Given the description of an element on the screen output the (x, y) to click on. 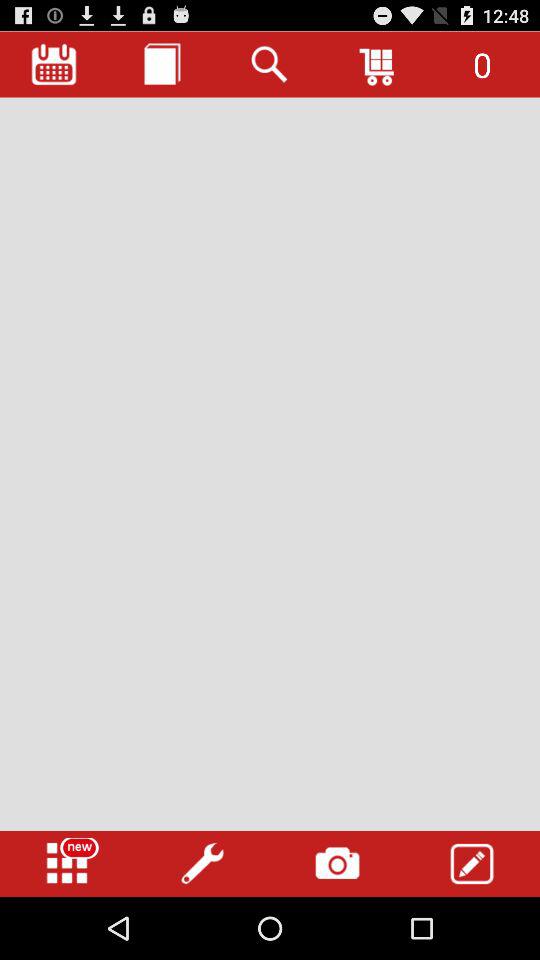
settings (202, 863)
